Given the description of an element on the screen output the (x, y) to click on. 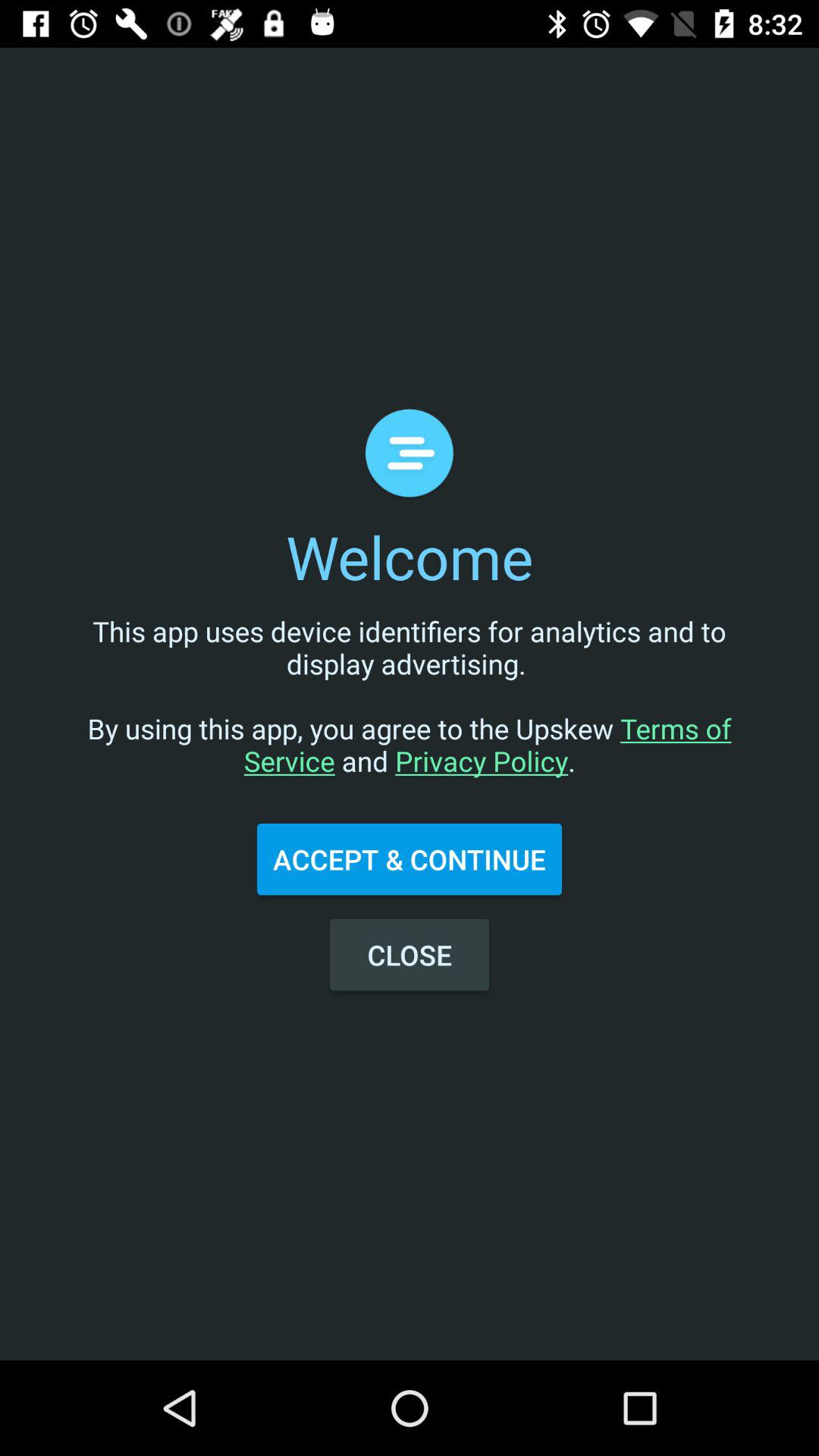
turn on the icon below welcome icon (409, 711)
